Given the description of an element on the screen output the (x, y) to click on. 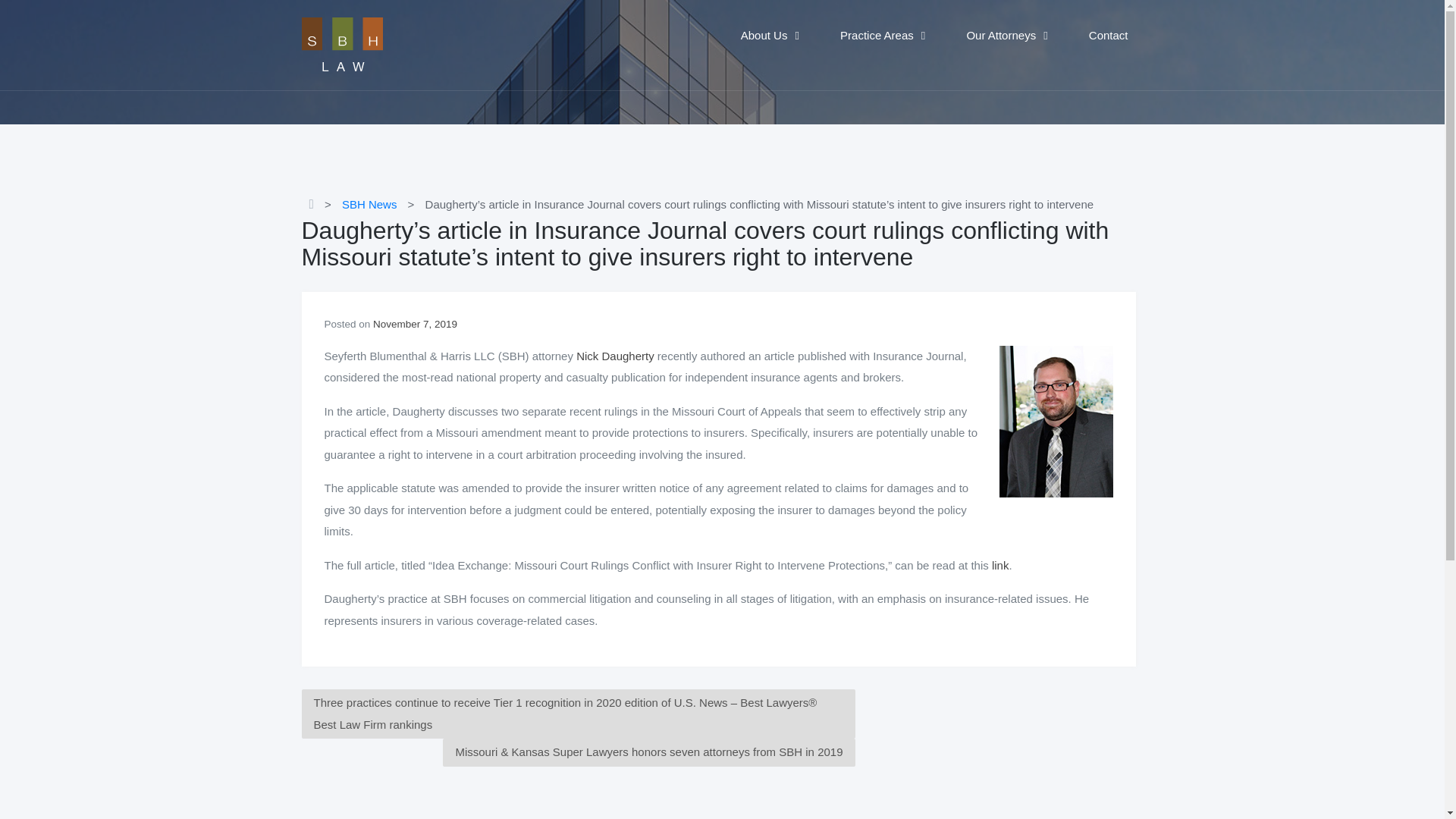
About Us (769, 35)
Practice Areas (882, 35)
Go to the SBH News Category archives. (373, 204)
